Given the description of an element on the screen output the (x, y) to click on. 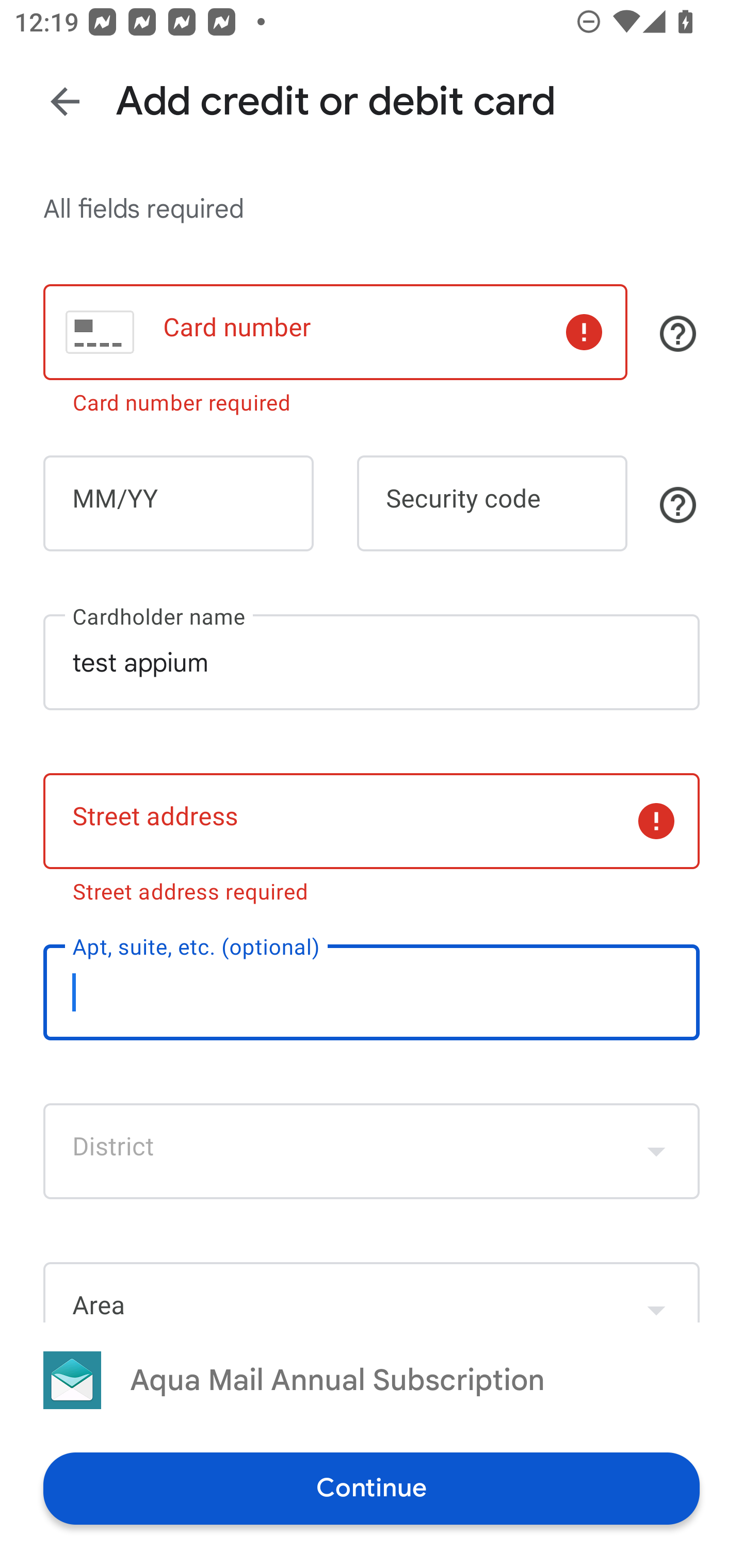
Back (64, 101)
Card number (335, 331)
Button, shows cards that are accepted for payment (677, 333)
Expiration date, 2 digit month, 2 digit year (178, 502)
Security code (492, 502)
Security code help (677, 504)
test appium (371, 662)
Street address (371, 820)
Apt, suite, etc. (optional) (371, 991)
District (371, 1151)
Show dropdown menu (655, 1151)
Area (371, 1291)
Show dropdown menu (655, 1293)
Continue (371, 1487)
